Given the description of an element on the screen output the (x, y) to click on. 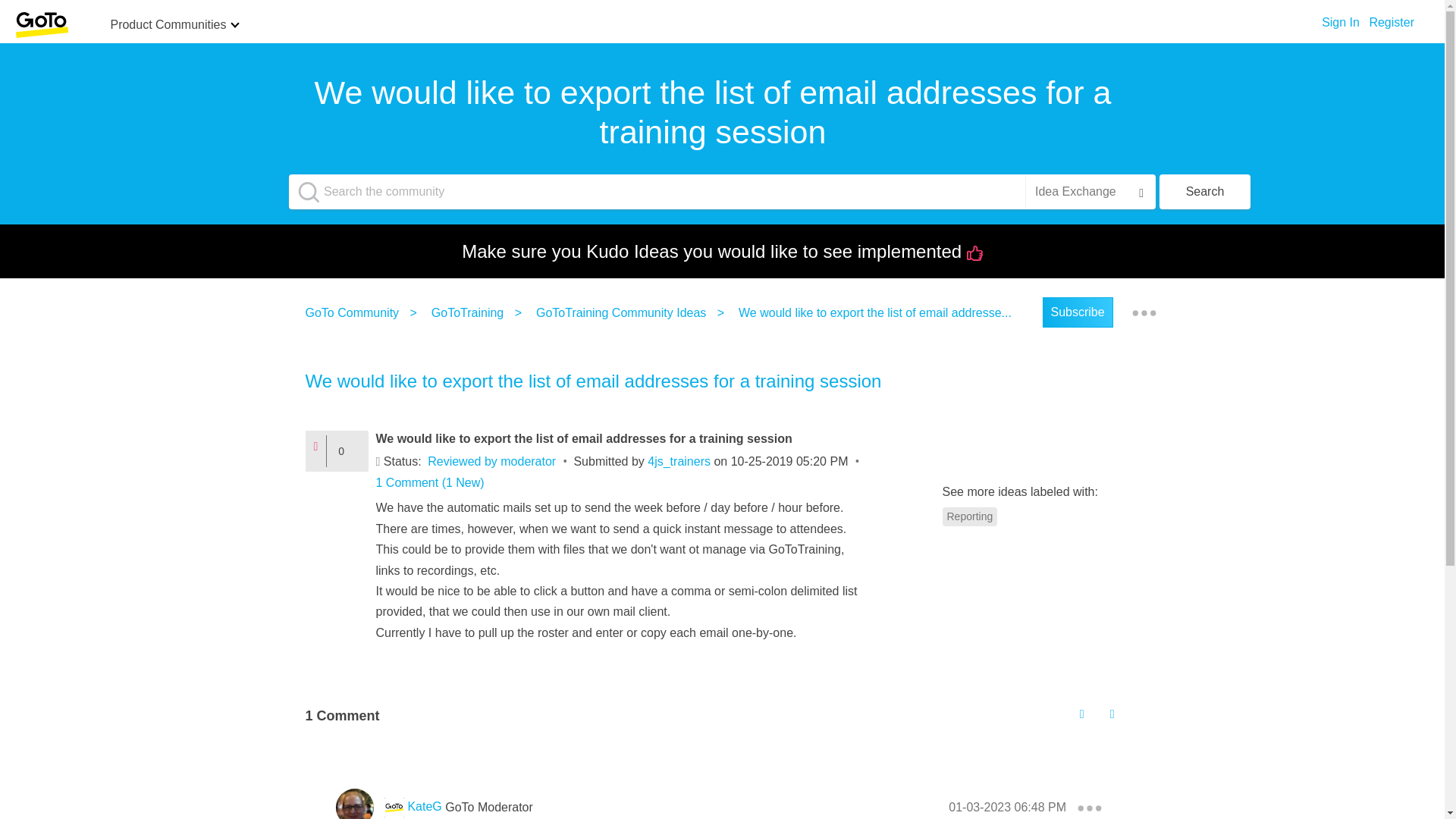
Show option menu (1143, 312)
Search (1204, 191)
Sign In (1340, 18)
Search (1204, 191)
GoToTraining Community Ideas (624, 312)
GoTo Community (355, 312)
Reviewed by moderator (492, 461)
Product Communities (167, 25)
GoTo Community Home (41, 25)
Options (1143, 312)
Register (1390, 18)
Search (1204, 191)
GoTo Community Home (41, 24)
The total number of kudos this post has received. (347, 450)
Reporting (969, 516)
